Given the description of an element on the screen output the (x, y) to click on. 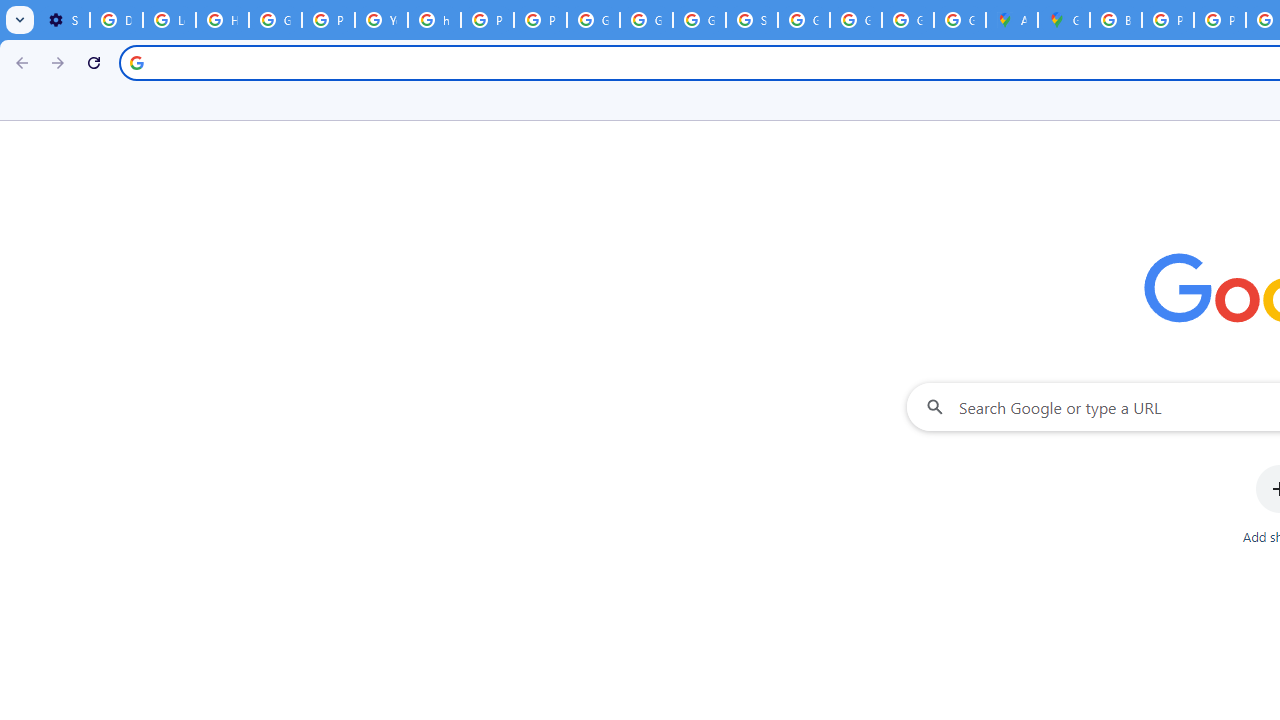
Google Maps (1064, 20)
Settings - Customize profile (63, 20)
Privacy Help Center - Policies Help (328, 20)
https://scholar.google.com/ (434, 20)
Learn how to find your photos - Google Photos Help (169, 20)
Privacy Help Center - Policies Help (1219, 20)
